Given the description of an element on the screen output the (x, y) to click on. 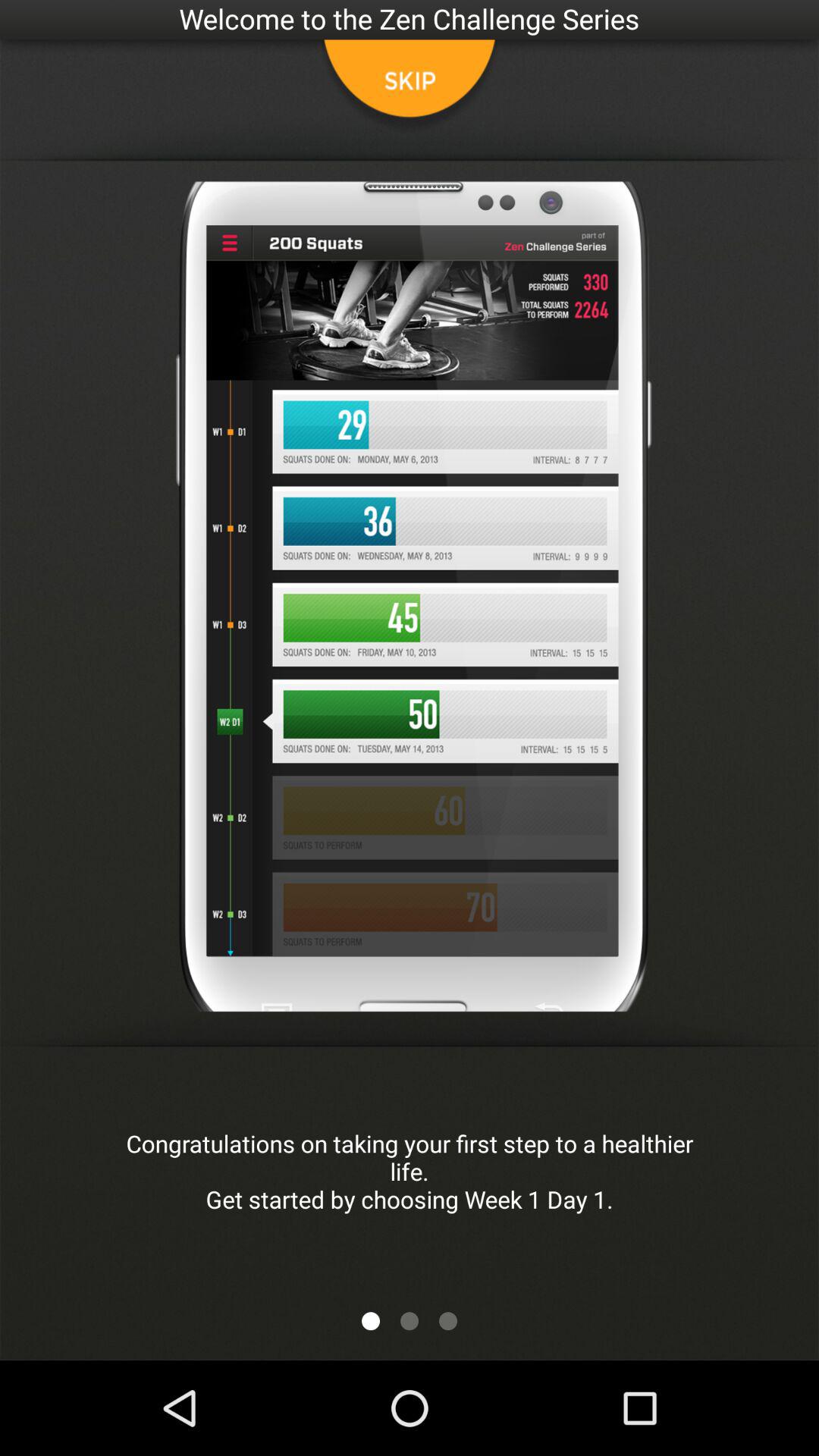
go to first page (370, 1321)
